Given the description of an element on the screen output the (x, y) to click on. 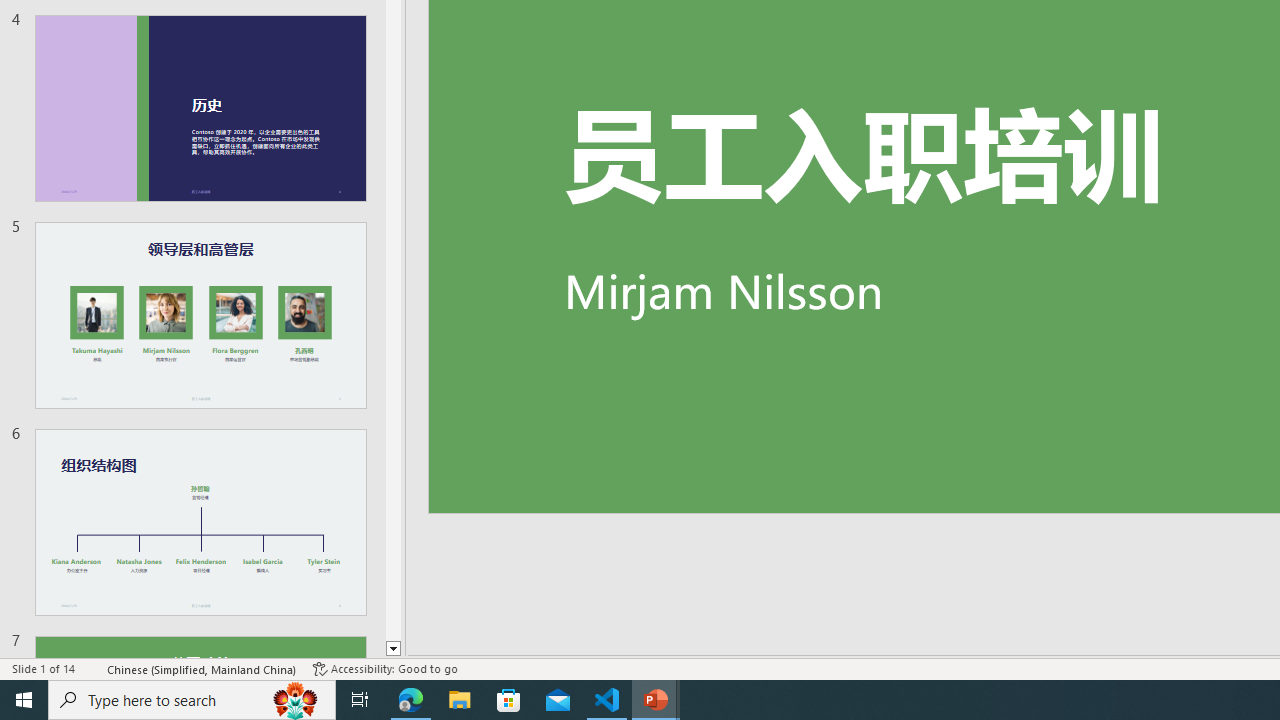
Spell Check  (92, 668)
Accessibility Checker Accessibility: Good to go (384, 668)
